Given the description of an element on the screen output the (x, y) to click on. 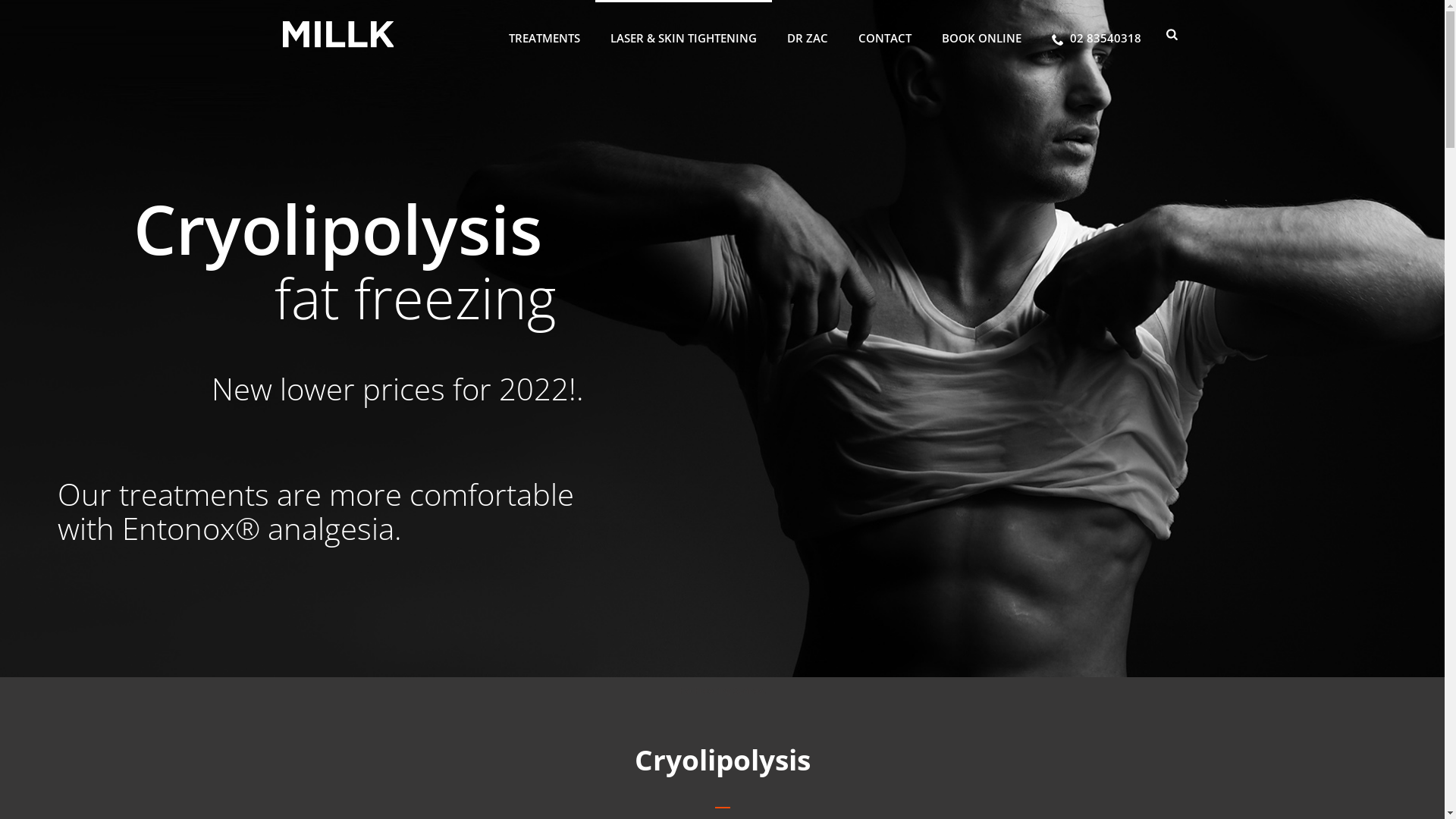
BOOK ONLINE Element type: text (981, 34)
LASER & SKIN TIGHTENING Element type: text (683, 34)
MEDI SPA Element type: hover (337, 34)
DR ZAC Element type: text (807, 34)
02 83540318 Element type: text (1096, 34)
TREATMENTS Element type: text (544, 34)
CONTACT Element type: text (884, 34)
